Given the description of an element on the screen output the (x, y) to click on. 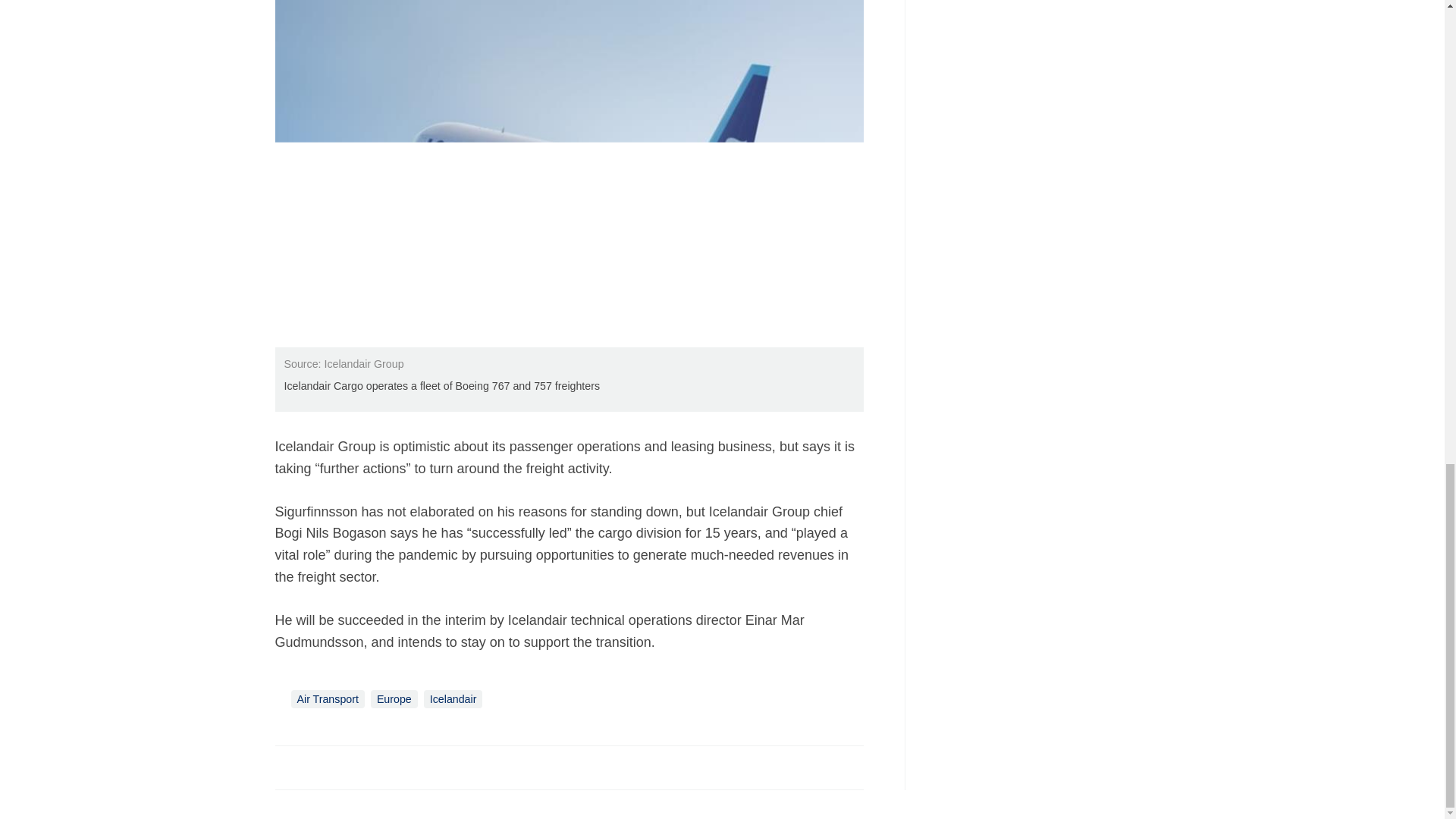
Share this on Twitter (320, 767)
Email this article (386, 767)
Share this on Linked in (352, 767)
Share this on Facebook (288, 767)
